Given the description of an element on the screen output the (x, y) to click on. 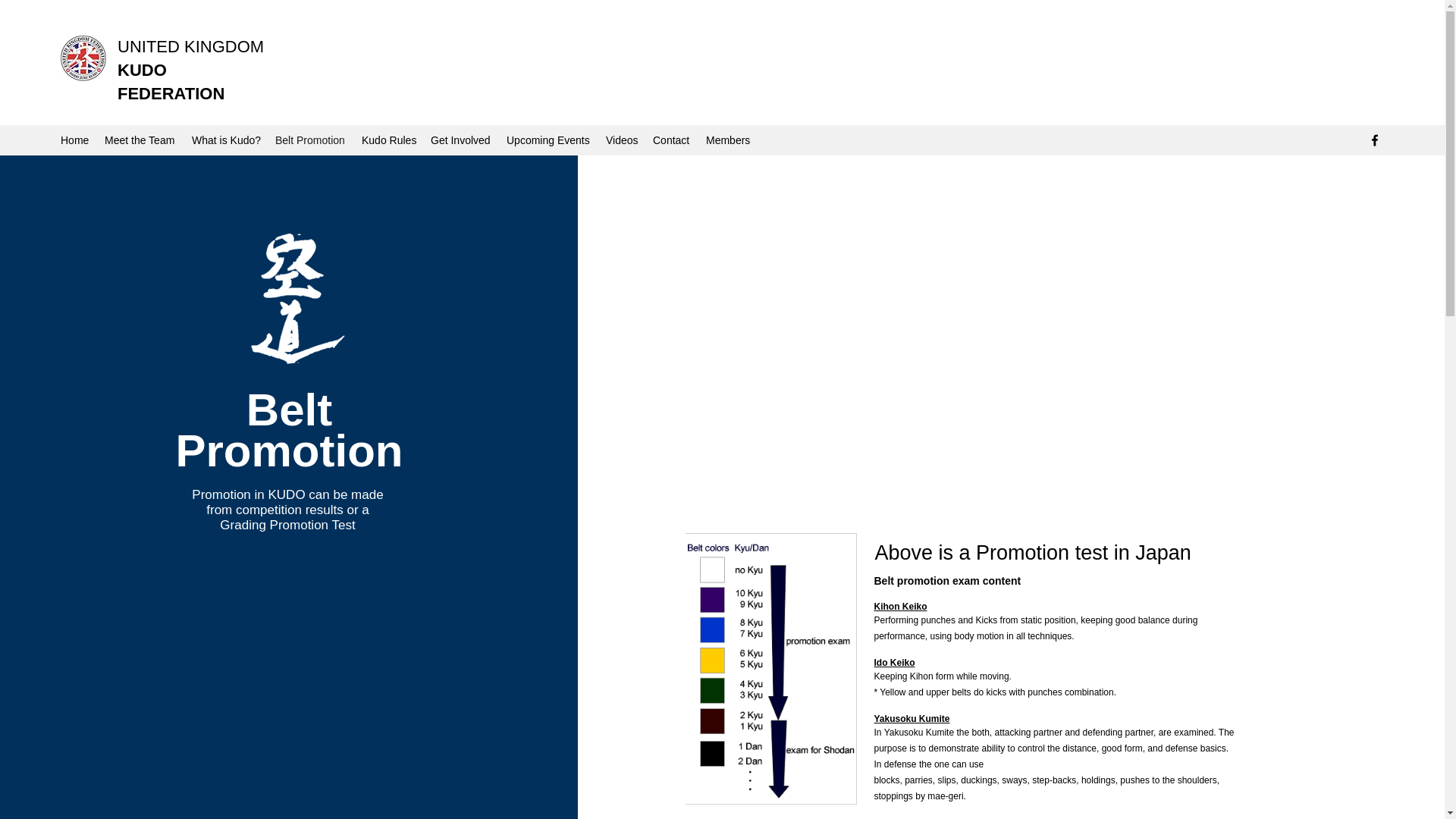
Get Involved (461, 139)
Belt Promotion (310, 139)
UNITED KINGDOM (190, 46)
Home (74, 139)
Meet the Team (140, 139)
KUDO FEDERATION (170, 81)
What is Kudo? (225, 139)
Upcoming Events (548, 139)
Kudo Rules (388, 139)
Videos (621, 139)
Members (728, 139)
Contact (671, 139)
